Given the description of an element on the screen output the (x, y) to click on. 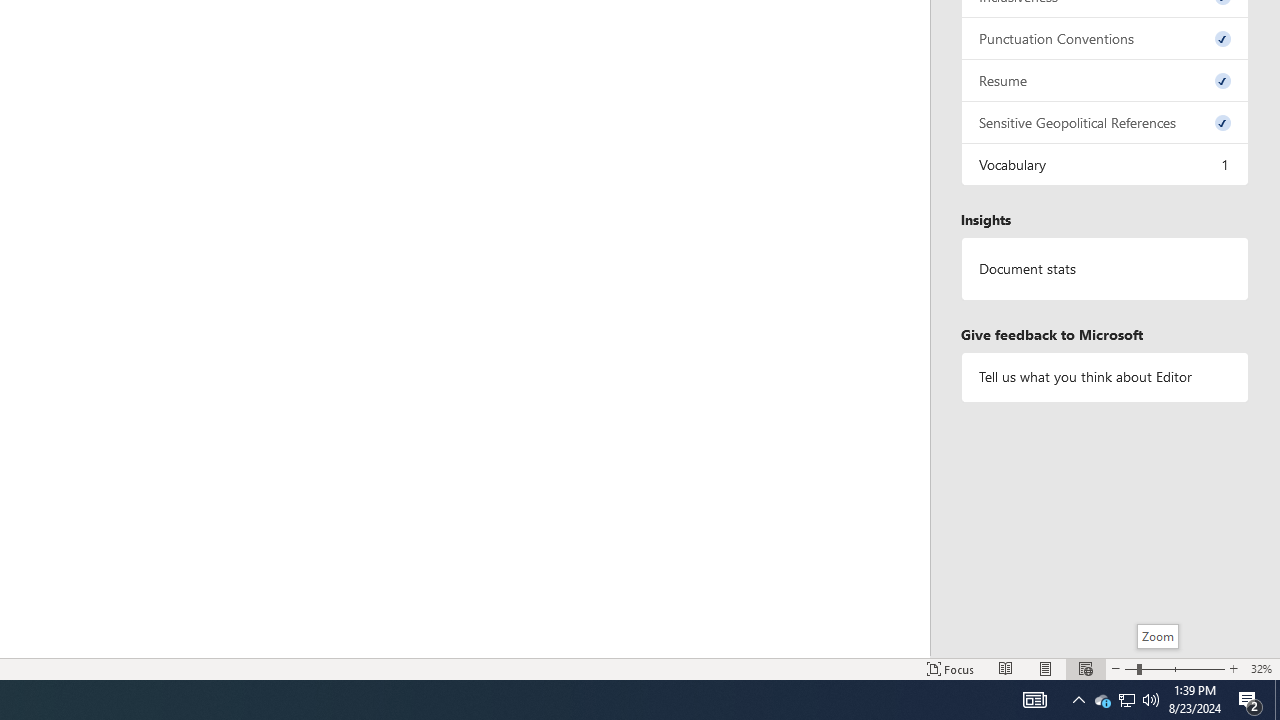
Vocabulary, 1 issue. Press space or enter to review items. (1105, 164)
Document statistics (1105, 269)
Zoom 32% (1261, 668)
Resume, 0 issues. Press space or enter to review items. (1105, 79)
Tell us what you think about Editor (1105, 376)
